Given the description of an element on the screen output the (x, y) to click on. 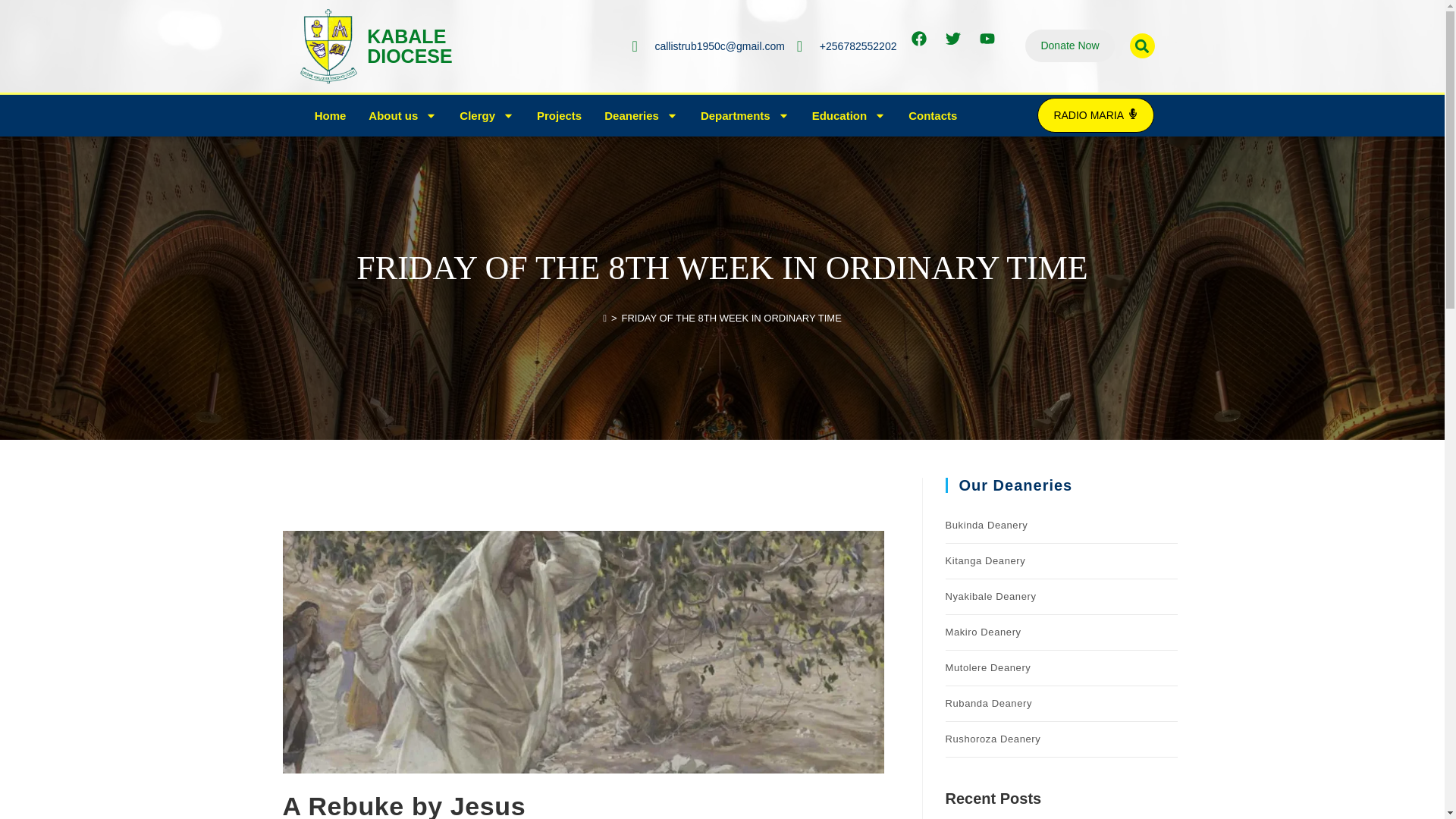
Deaneries (640, 115)
Projects (558, 115)
About us (402, 115)
Clergy (409, 45)
Home (486, 115)
Donate Now (330, 115)
Departments (1069, 45)
